Given the description of an element on the screen output the (x, y) to click on. 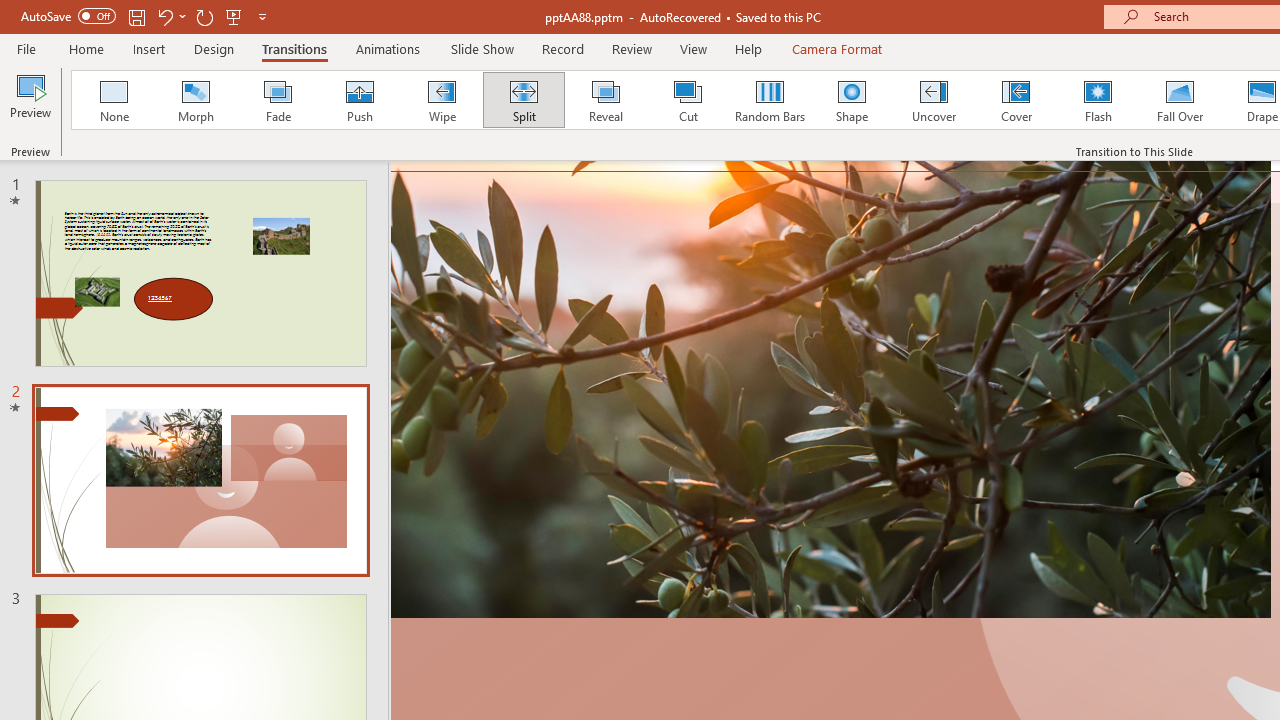
Split (523, 100)
Cut (687, 100)
Preview (30, 102)
Shape (852, 100)
Push (359, 100)
